Given the description of an element on the screen output the (x, y) to click on. 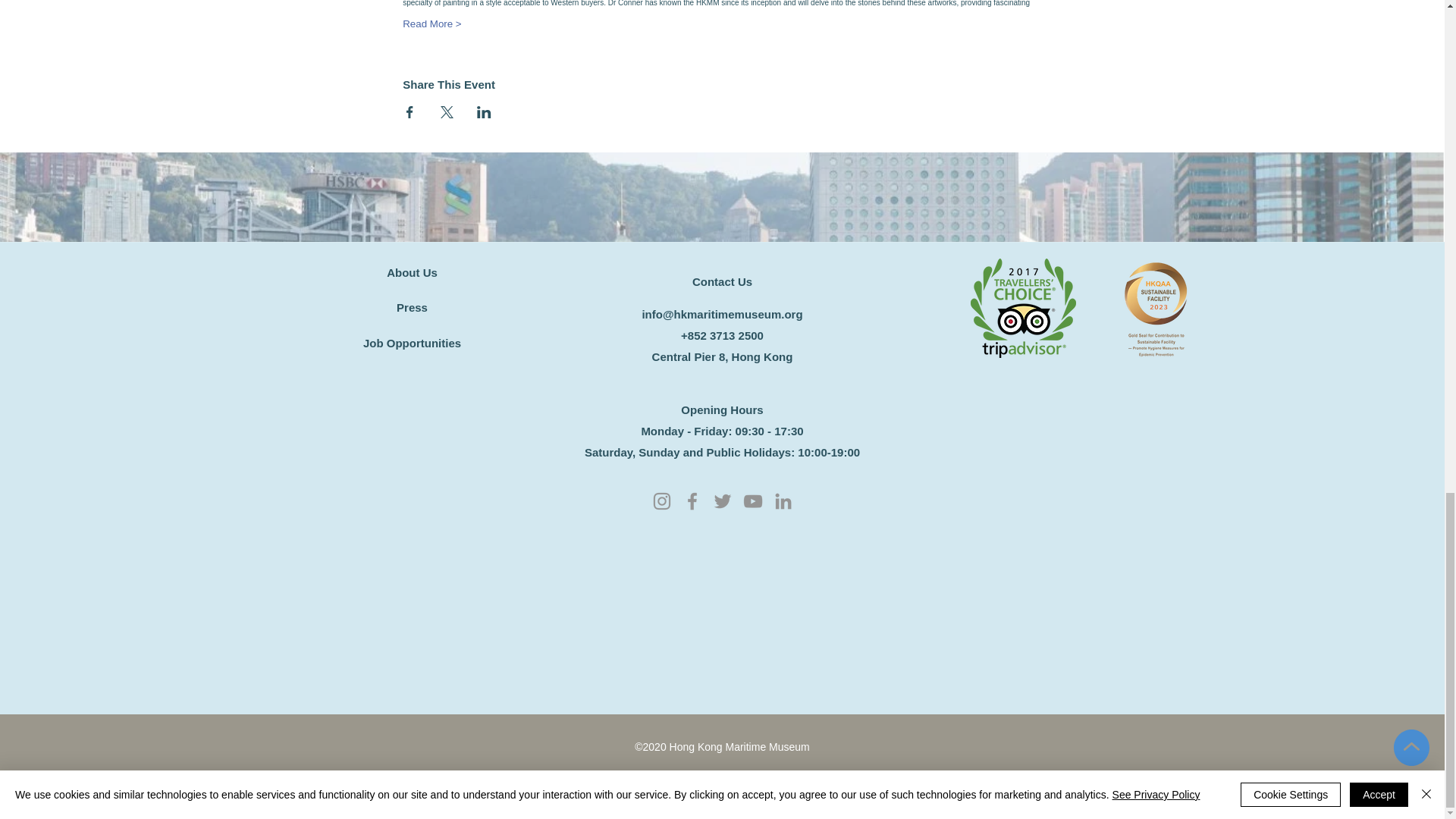
About Us (411, 272)
Job Opportunities (411, 343)
Press (411, 307)
